Given the description of an element on the screen output the (x, y) to click on. 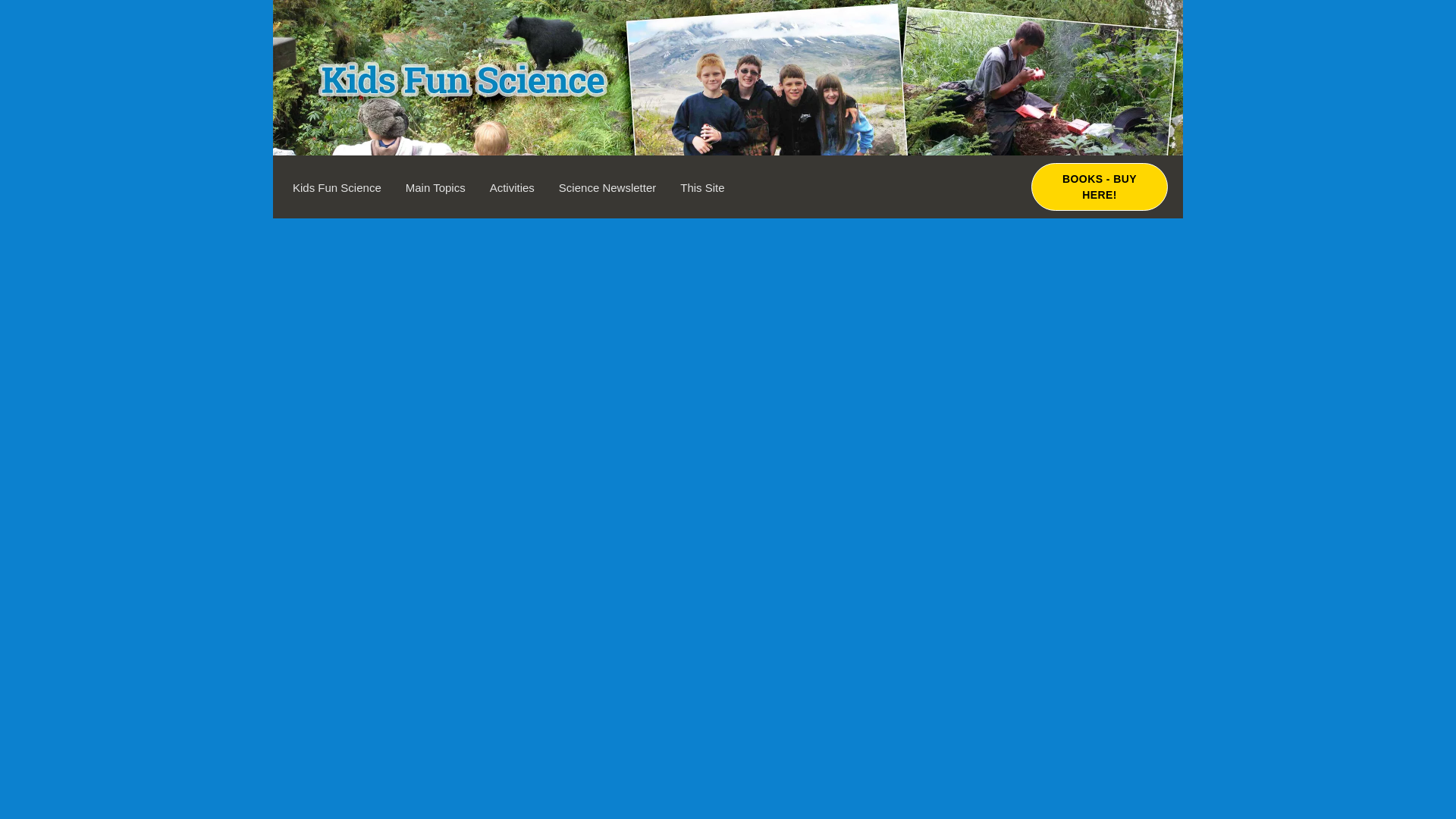
BOOKS - BUY HERE! (1098, 186)
Kids Fun Science (337, 187)
